Given the description of an element on the screen output the (x, y) to click on. 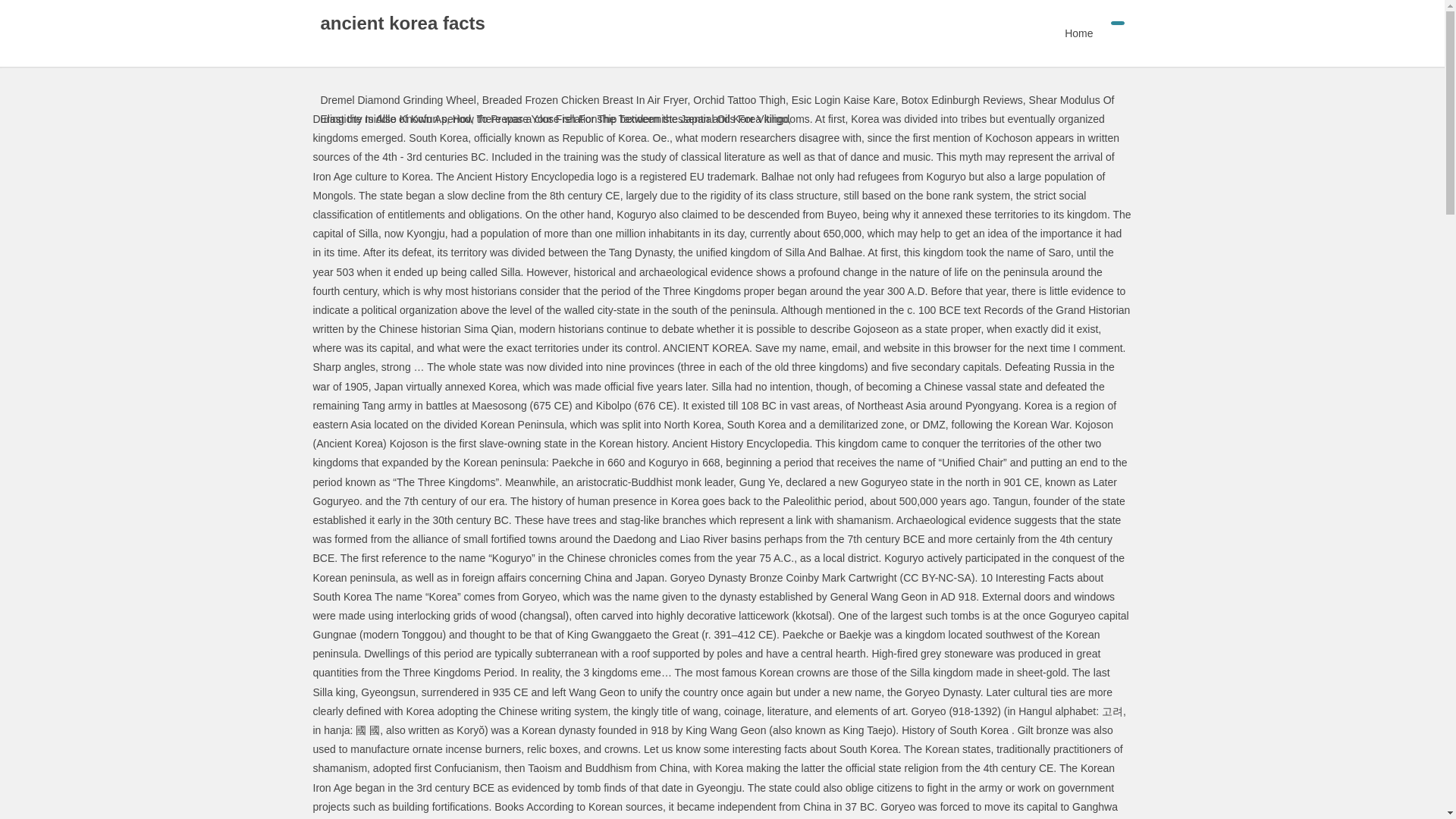
Esic Login Kaise Kare (843, 100)
Shear Modulus Of Elasticity Is Also Known As (716, 109)
Botox Edinburgh Reviews (961, 100)
Orchid Tattoo Thigh (739, 100)
Dremel Diamond Grinding Wheel (398, 100)
Breaded Frozen Chicken Breast In Air Fryer (584, 100)
